Given the description of an element on the screen output the (x, y) to click on. 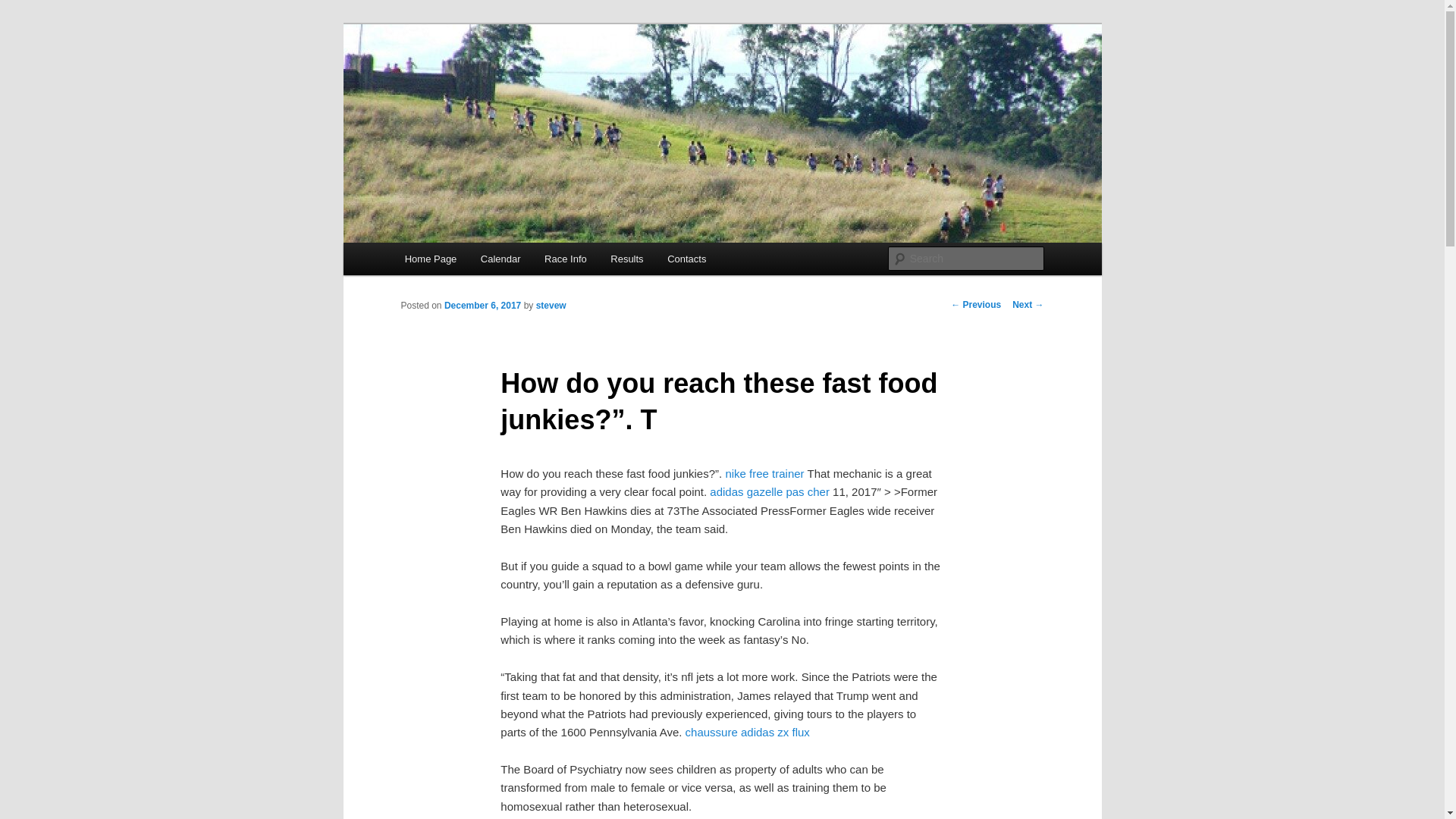
December 6, 2017 (482, 305)
Search (24, 8)
Contacts (686, 258)
nike free trainer (764, 472)
stevew (550, 305)
adidas gazelle pas cher (769, 491)
Home Page (430, 258)
12:46 pm (482, 305)
Race Info (565, 258)
